Given the description of an element on the screen output the (x, y) to click on. 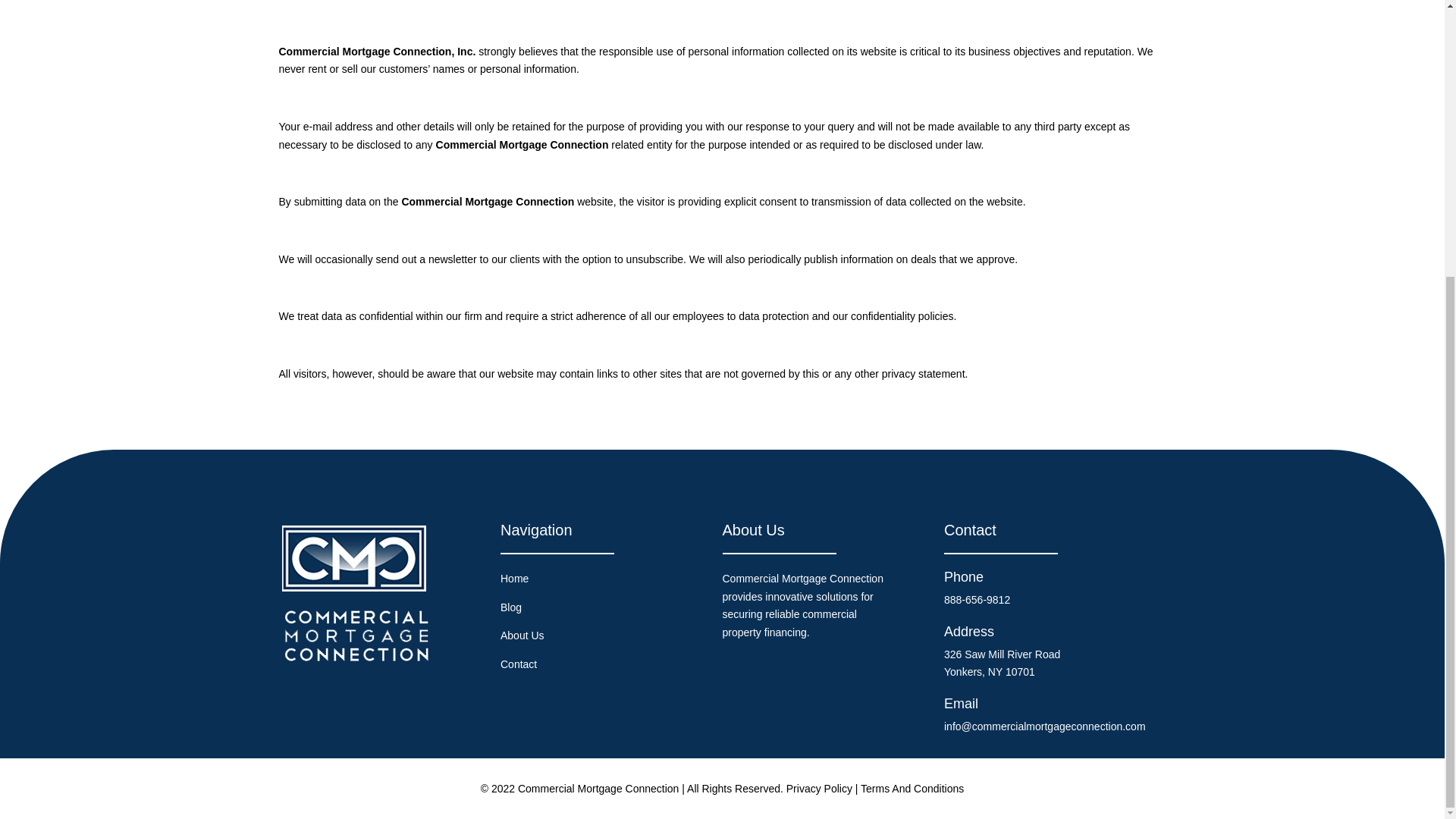
Contact (518, 664)
Home (514, 578)
Privacy Policy (818, 788)
Blog (510, 607)
About Us (522, 635)
888-656-9812 (976, 599)
foot-logo (355, 591)
Terms And Conditions (911, 788)
